Given the description of an element on the screen output the (x, y) to click on. 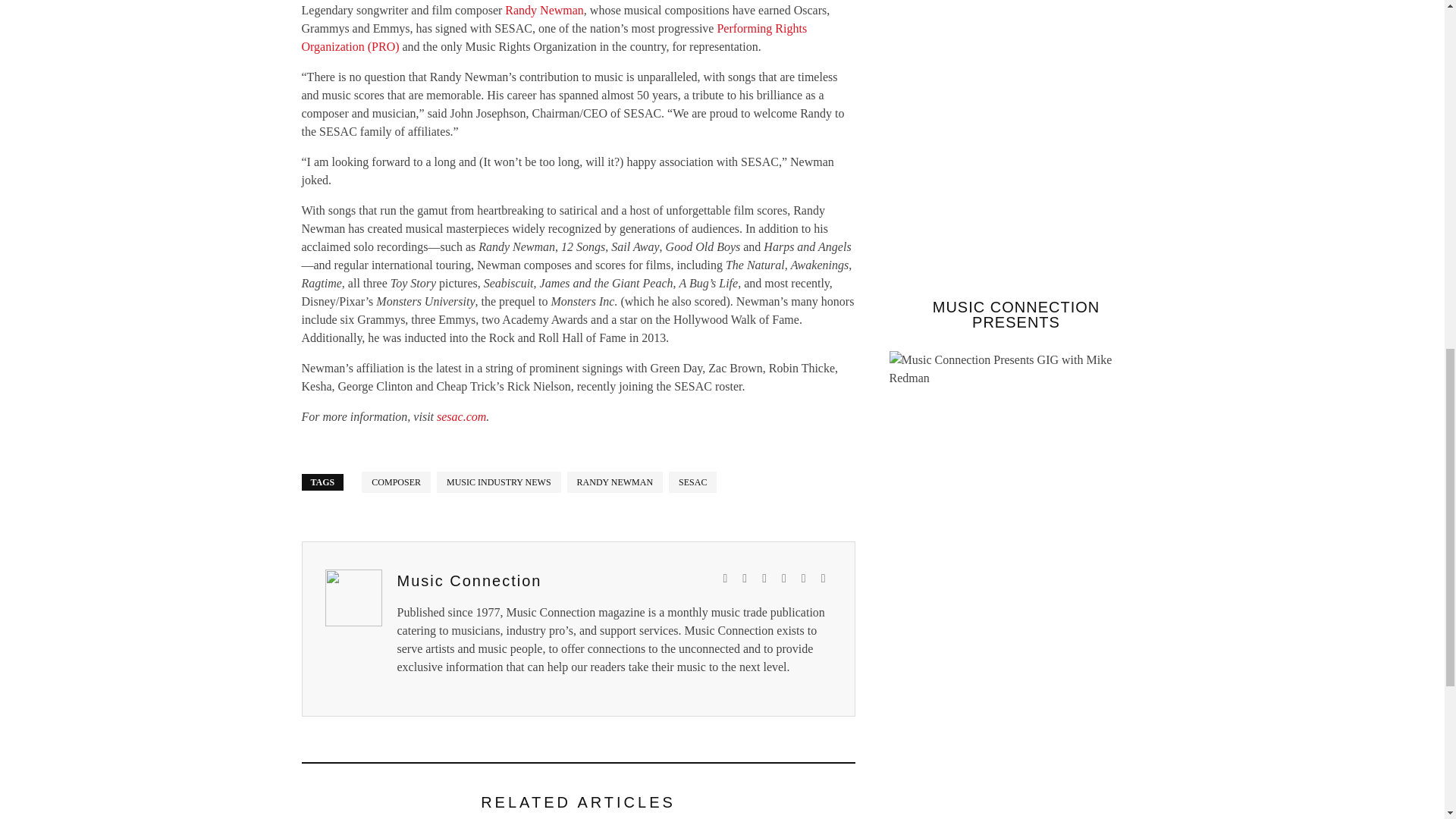
View all posts tagged composer (395, 482)
View all posts tagged SESAC (692, 482)
View all posts tagged music industry news (498, 482)
View all posts tagged Randy Newman (615, 482)
